Given the description of an element on the screen output the (x, y) to click on. 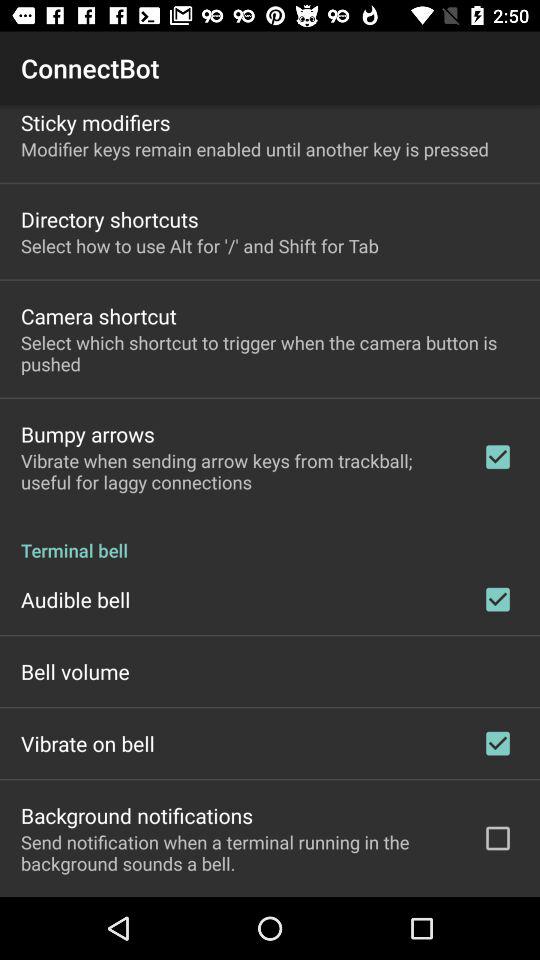
turn on icon below background notifications icon (238, 852)
